Given the description of an element on the screen output the (x, y) to click on. 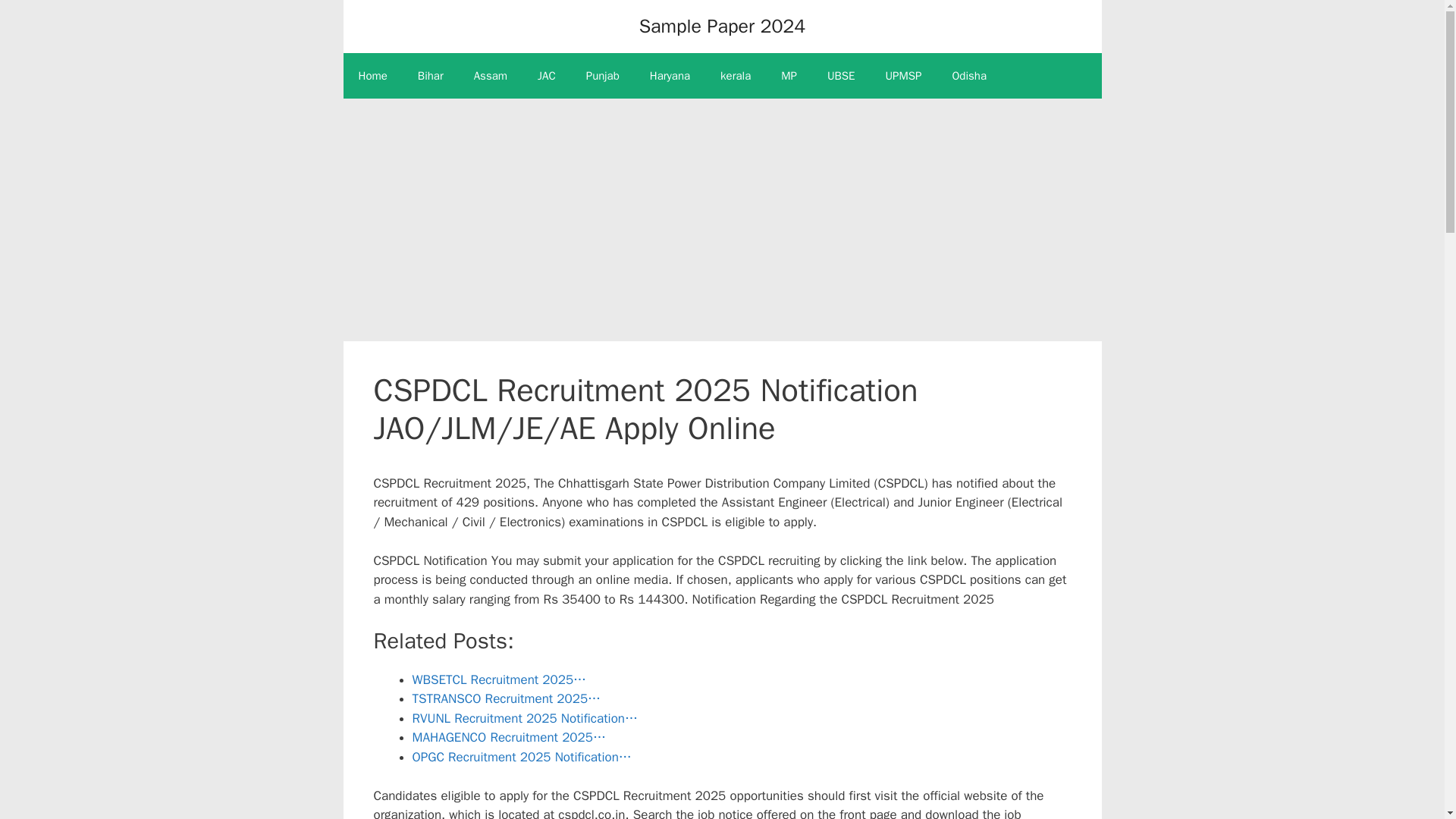
UBSE (841, 75)
UPMSP (903, 75)
Punjab (602, 75)
Odisha (968, 75)
Haryana (669, 75)
MP (788, 75)
kerala (734, 75)
Bihar (430, 75)
Assam (490, 75)
JAC (546, 75)
Sample Paper 2024 (722, 25)
Home (371, 75)
